Given the description of an element on the screen output the (x, y) to click on. 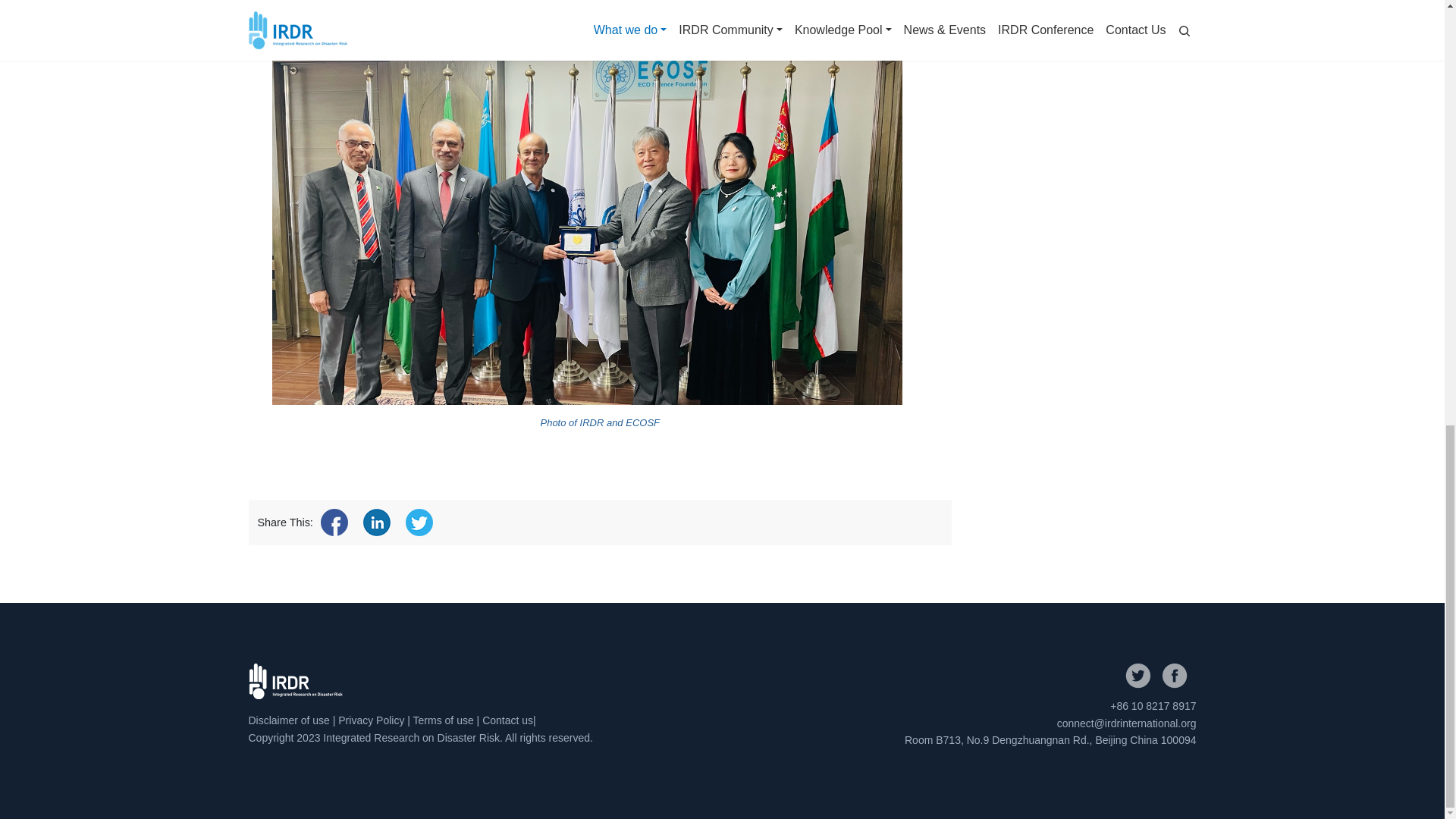
Share this page on Facebook (333, 522)
Share this page on Twitter (419, 522)
Share this page on LinkedIn (376, 522)
